Given the description of an element on the screen output the (x, y) to click on. 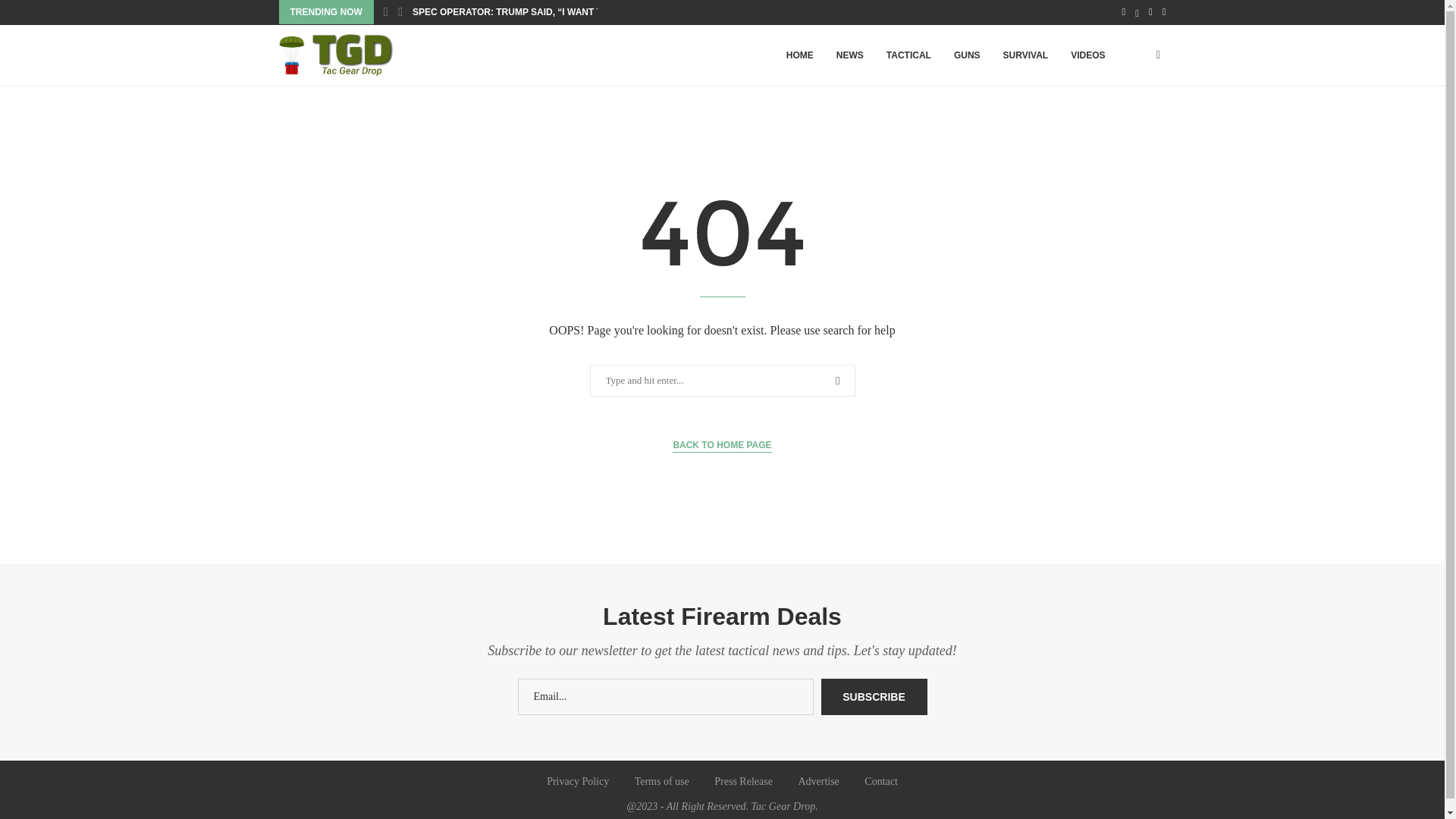
Subscribe (873, 696)
Subscribe (873, 696)
VIDEOS (1087, 55)
Privacy Policy (577, 781)
Terms of use (661, 781)
Contact (881, 781)
TACTICAL (908, 55)
Advertise (817, 781)
SURVIVAL (1025, 55)
Search (35, 15)
